Given the description of an element on the screen output the (x, y) to click on. 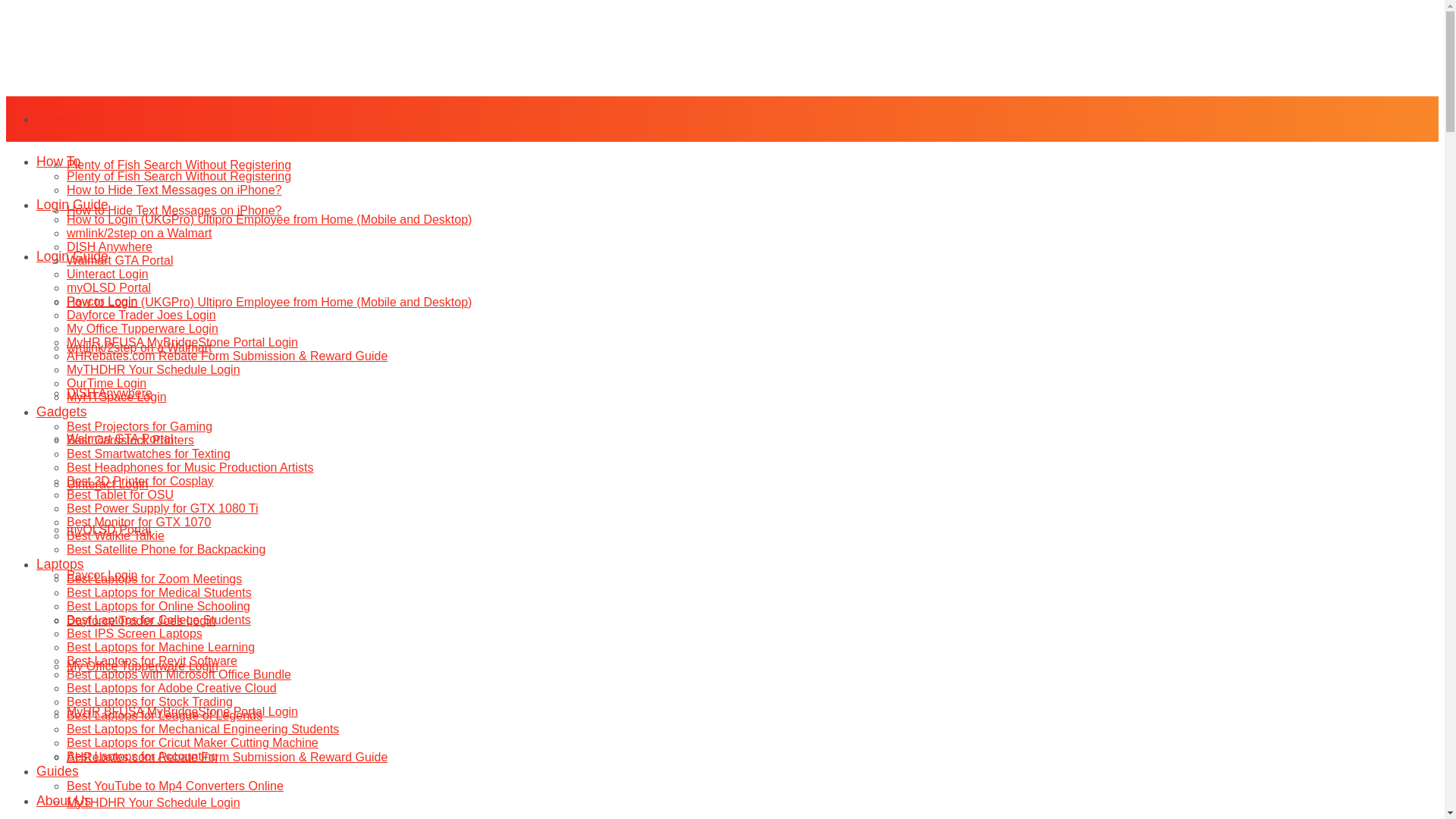
Uinteract Login (107, 483)
My Office Tupperware Login (142, 666)
MyTHDHR Your Schedule Login (153, 802)
myOLSD Portal (108, 529)
Login Guide (71, 255)
MyHR BFUSA MyBridgeStone Portal Login (182, 711)
Dayforce Trader Joes Login (140, 620)
How to Hide Text Messages on iPhone? (173, 210)
Paycor Login (101, 574)
Plenty of Fish Search Without Registering (178, 164)
